Given the description of an element on the screen output the (x, y) to click on. 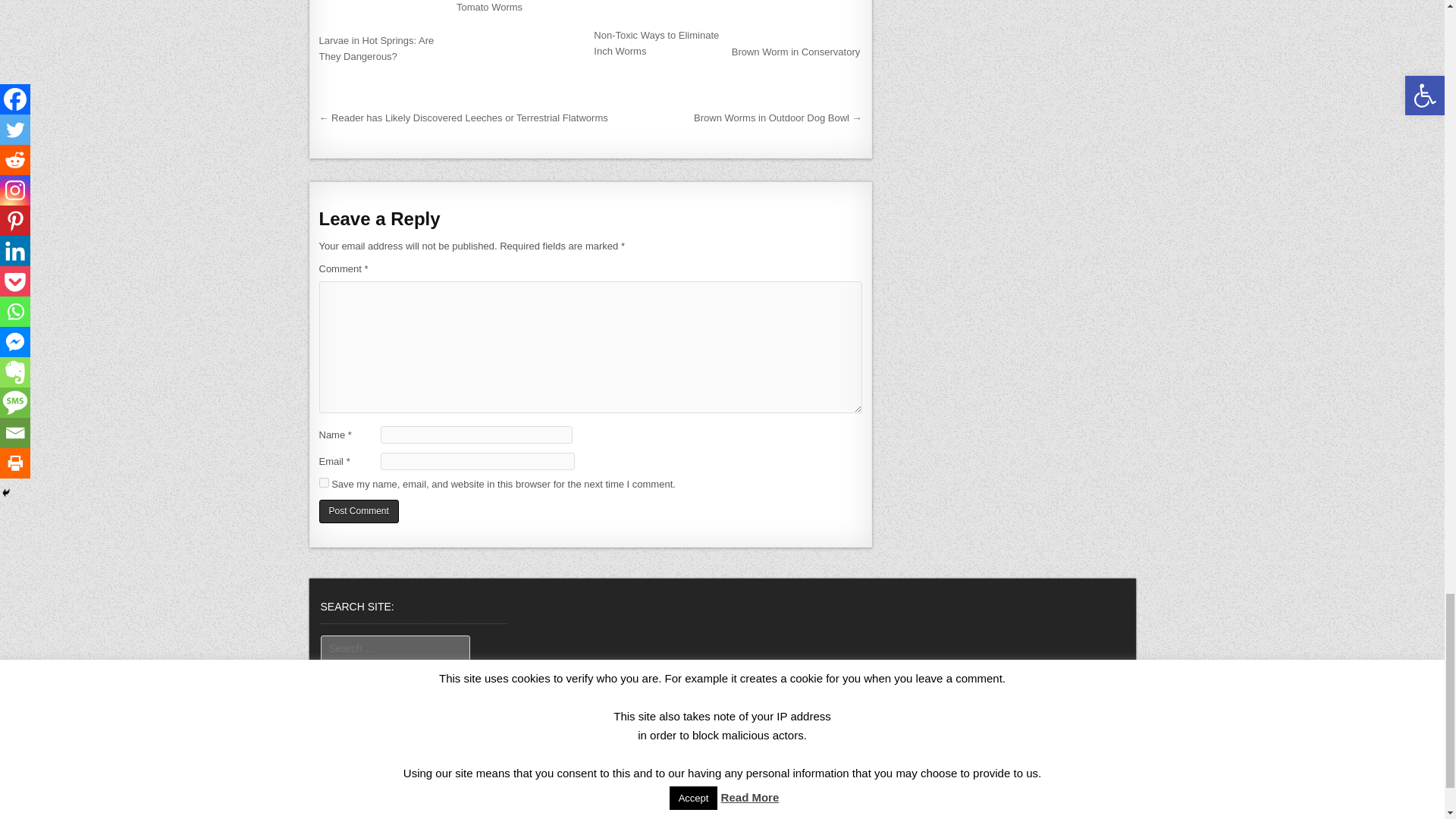
Search (344, 672)
yes (323, 482)
Search (344, 672)
Post Comment (357, 511)
